Given the description of an element on the screen output the (x, y) to click on. 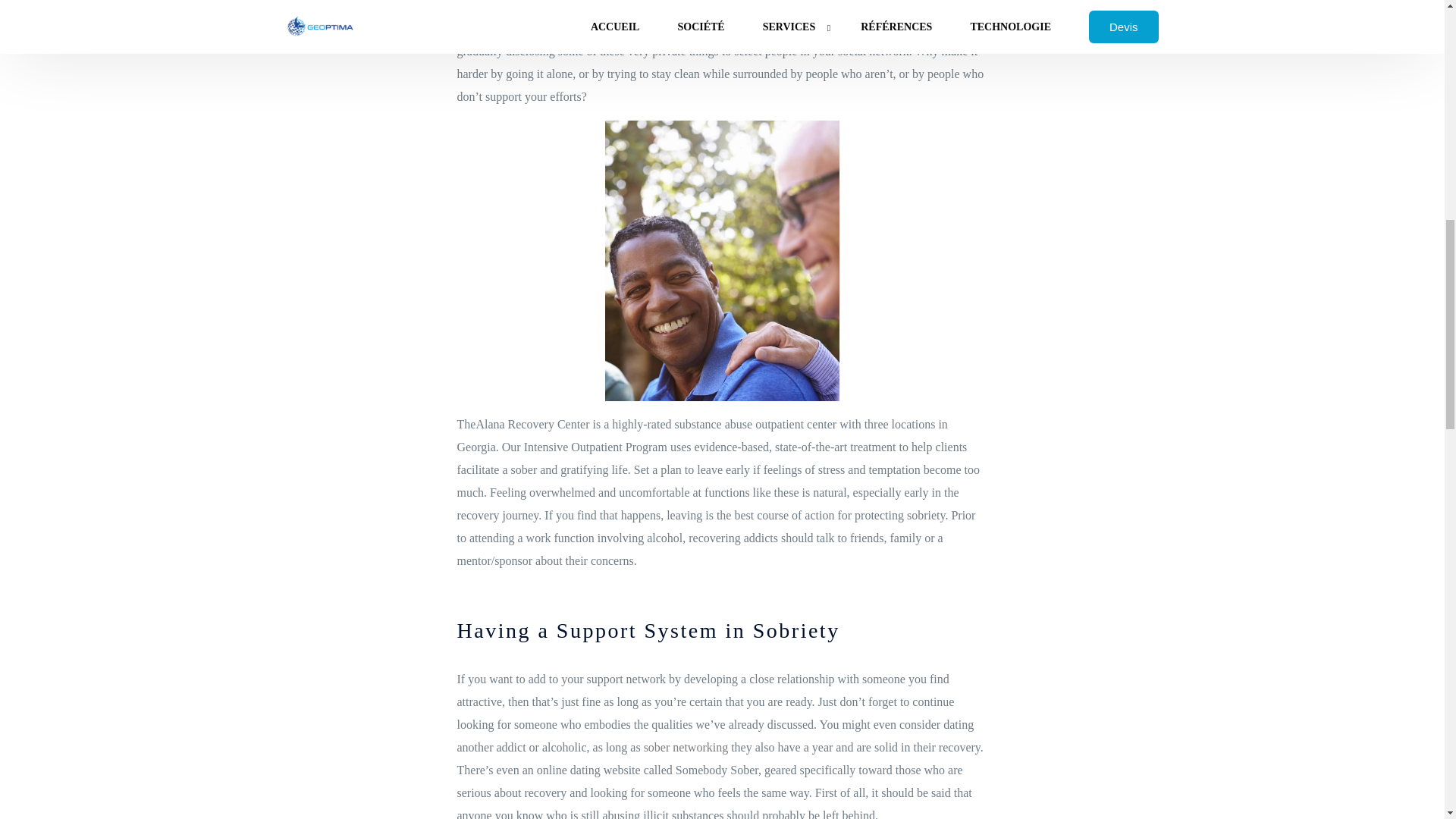
sober networking (686, 747)
